Given the description of an element on the screen output the (x, y) to click on. 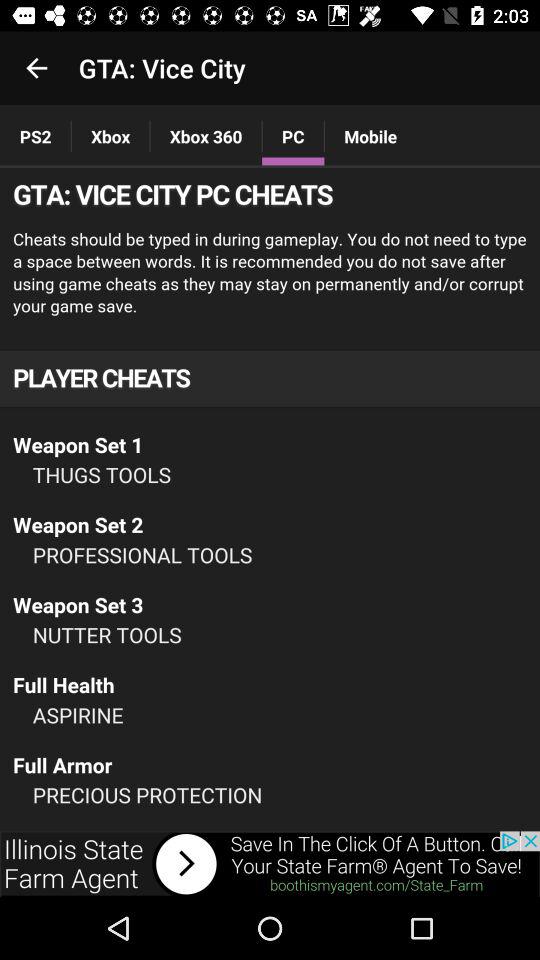
advertisement page (270, 864)
